Given the description of an element on the screen output the (x, y) to click on. 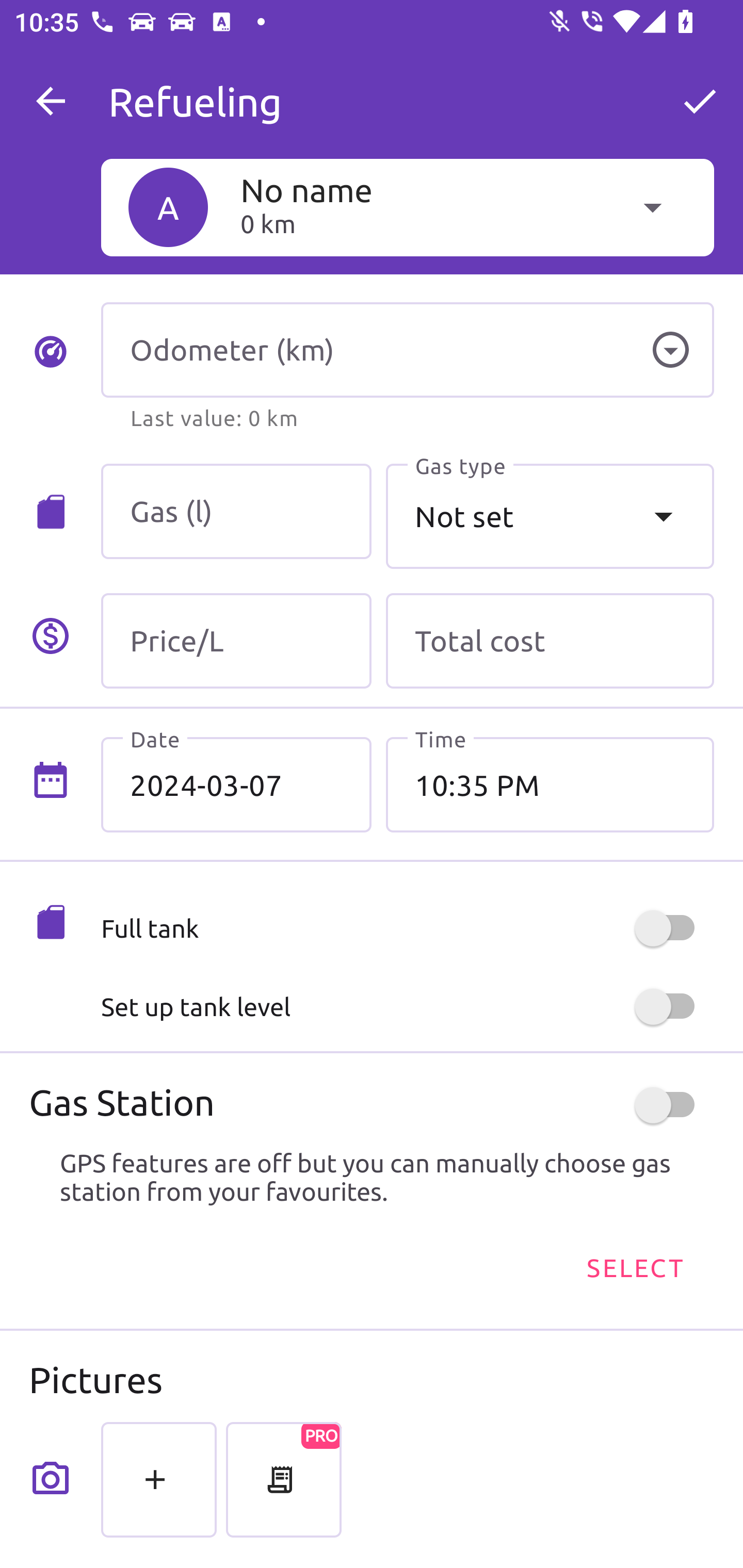
Navigate up (50, 101)
OK (699, 101)
A No name 0 km (407, 206)
Odometer (km) (407, 350)
Odometer (670, 349)
Gas (l) (236, 511)
Not set (549, 516)
Price/L (236, 640)
Total cost  (549, 640)
2024-03-07 (236, 784)
10:35 PM (549, 784)
Full tank (407, 928)
Set up tank level (407, 1006)
SELECT (634, 1267)
